Given the description of an element on the screen output the (x, y) to click on. 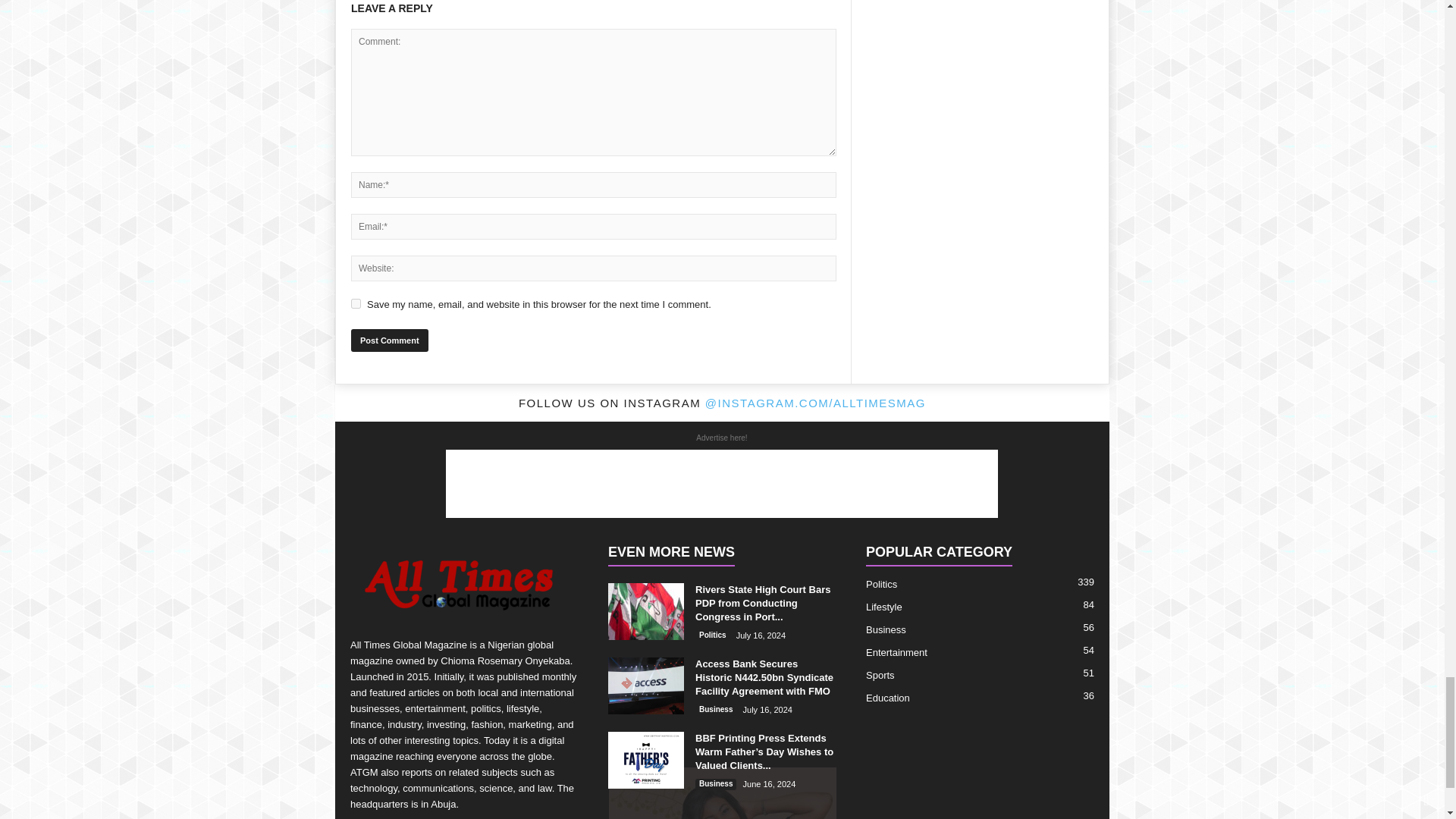
yes (355, 303)
Post Comment (389, 340)
